Given the description of an element on the screen output the (x, y) to click on. 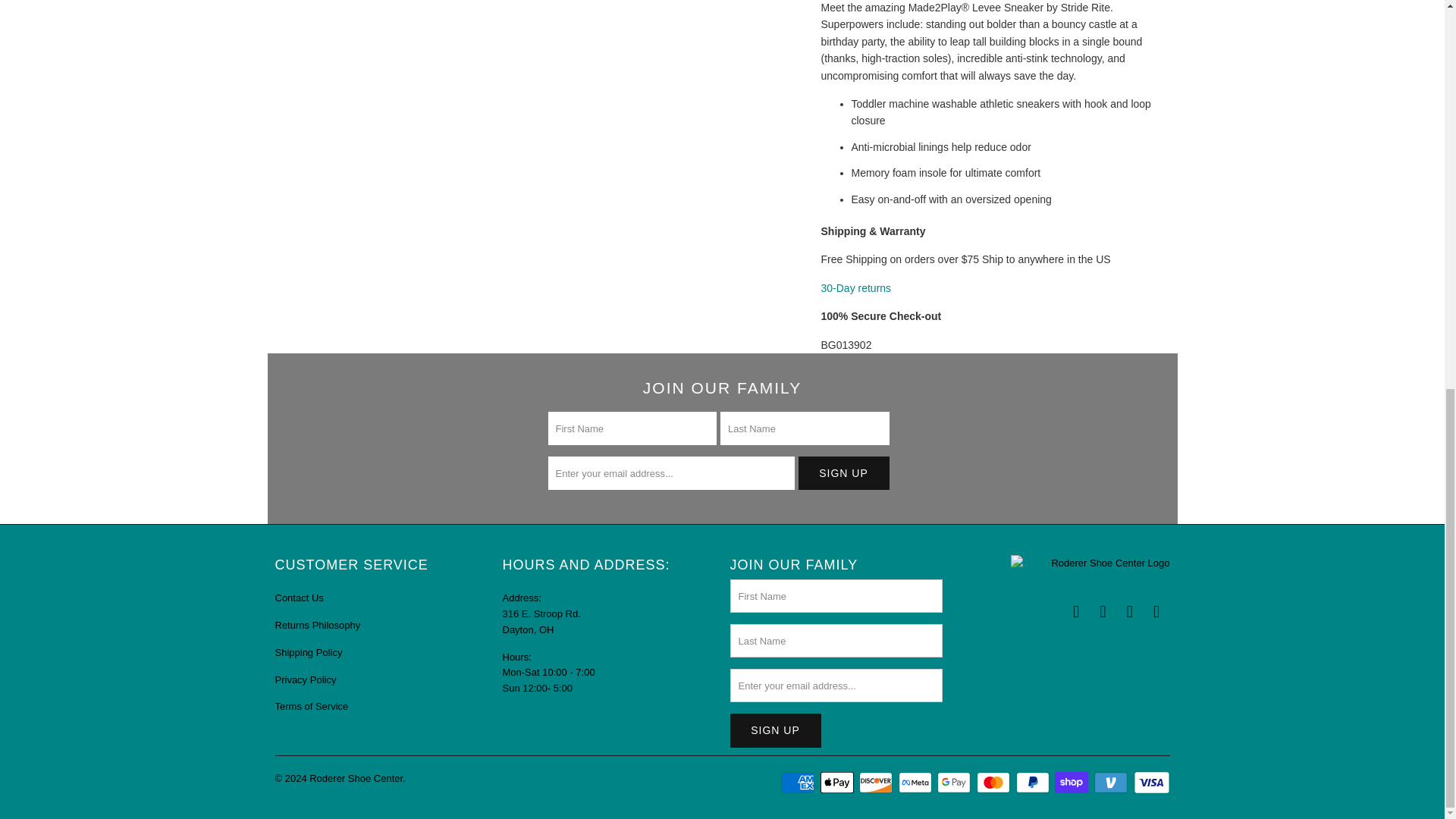
Shop Pay (1072, 782)
Sign Up (842, 472)
Discover (877, 782)
Visa (1150, 782)
American Express (798, 782)
Meta Pay (916, 782)
Apple Pay (839, 782)
Mastercard (994, 782)
PayPal (1034, 782)
Sign Up (775, 730)
